Given the description of an element on the screen output the (x, y) to click on. 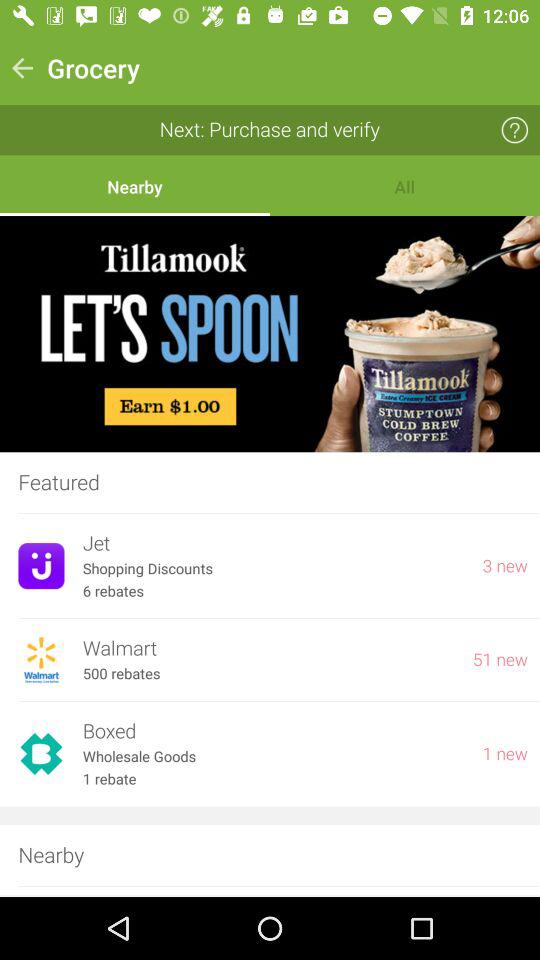
jump until 3 new (505, 566)
